Given the description of an element on the screen output the (x, y) to click on. 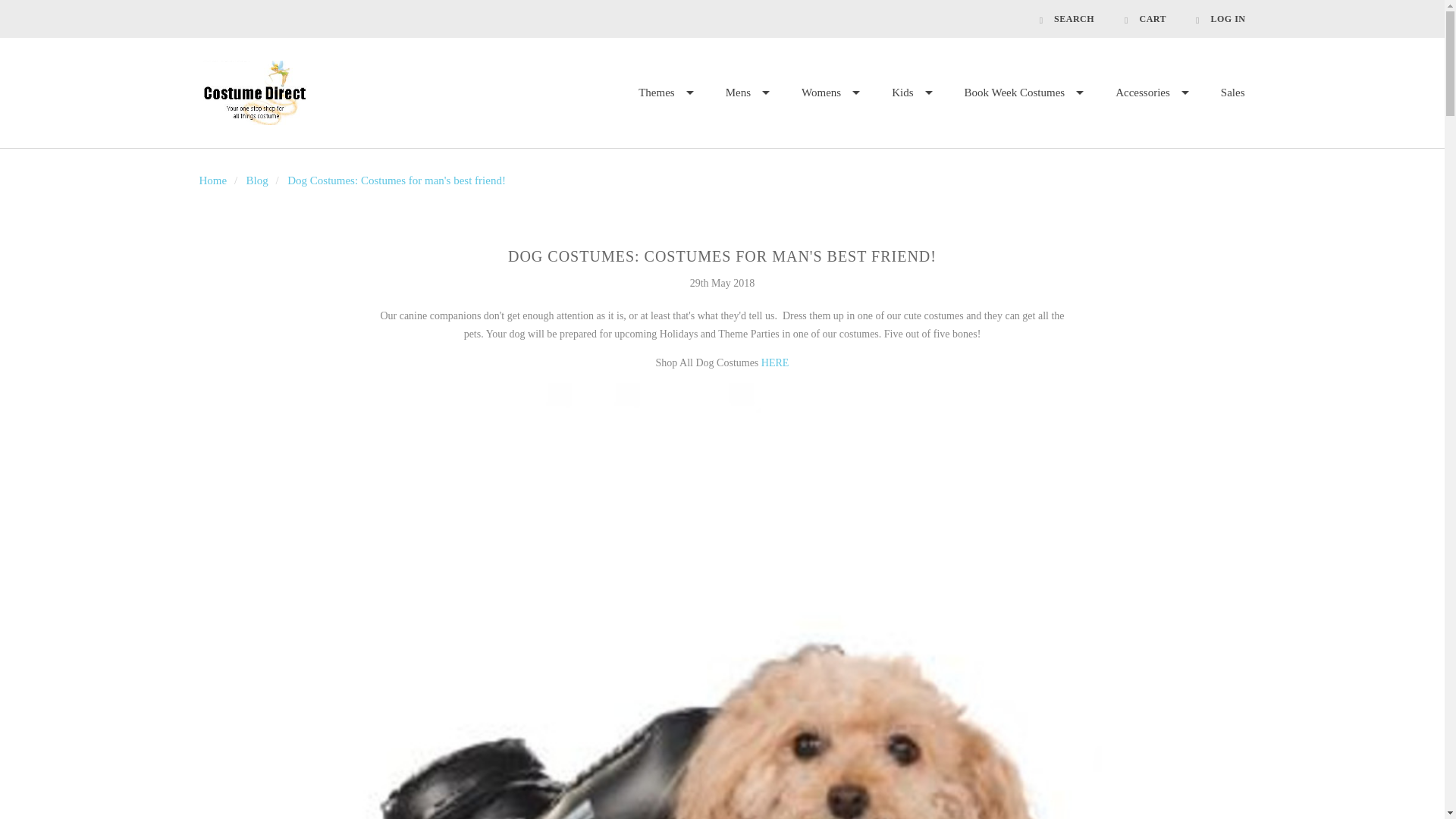
LOG IN (1212, 18)
SEARCH (1067, 18)
CART (1144, 18)
Themes (665, 93)
